Given the description of an element on the screen output the (x, y) to click on. 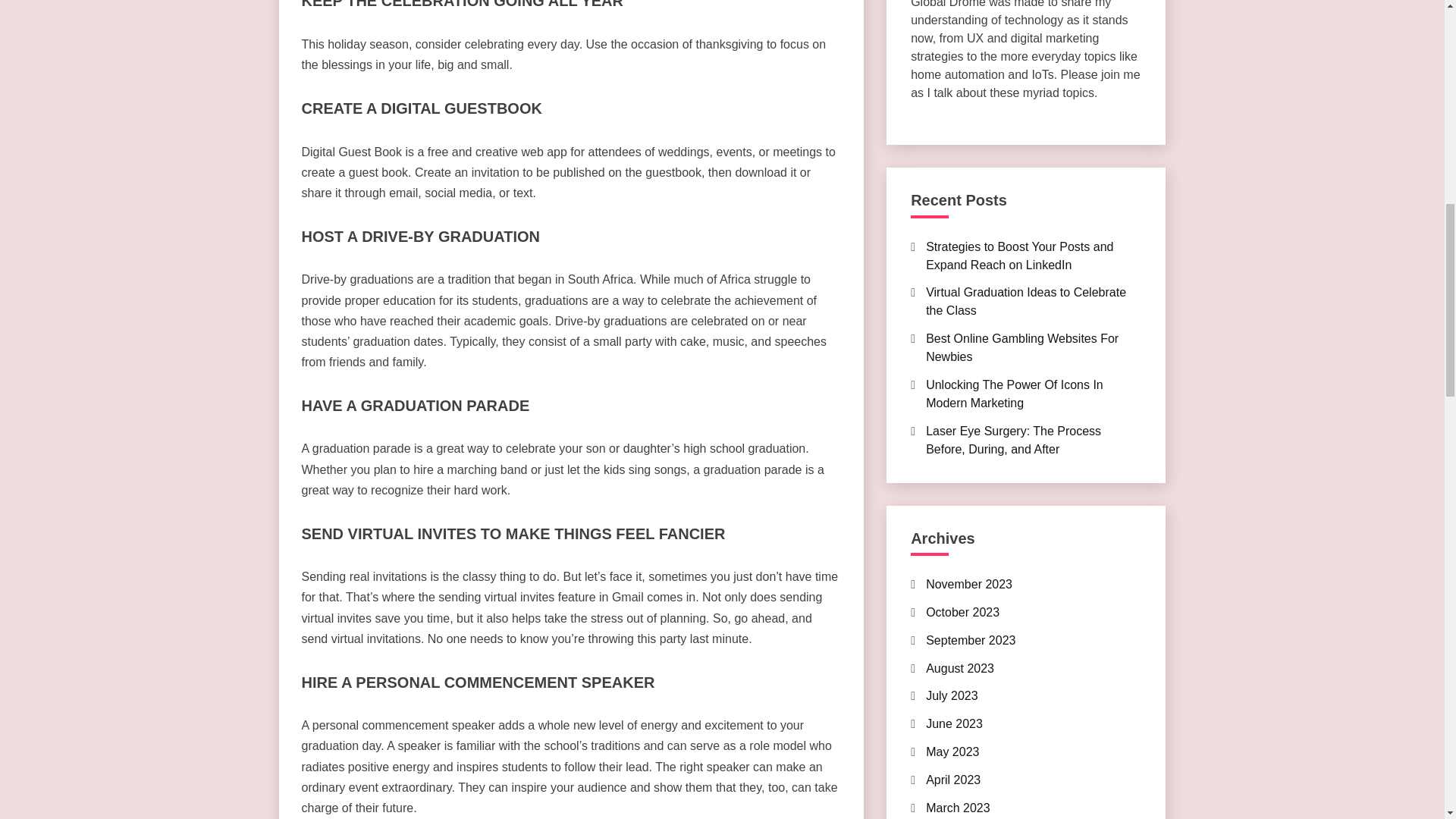
November 2023 (968, 584)
Laser Eye Surgery: The Process Before, During, and After (1013, 440)
Unlocking The Power Of Icons In Modern Marketing (1014, 393)
Virtual Graduation Ideas to Celebrate the Class (1025, 300)
Best Online Gambling Websites For Newbies (1022, 347)
October 2023 (962, 612)
Strategies to Boost Your Posts and Expand Reach on LinkedIn (1019, 255)
